Given the description of an element on the screen output the (x, y) to click on. 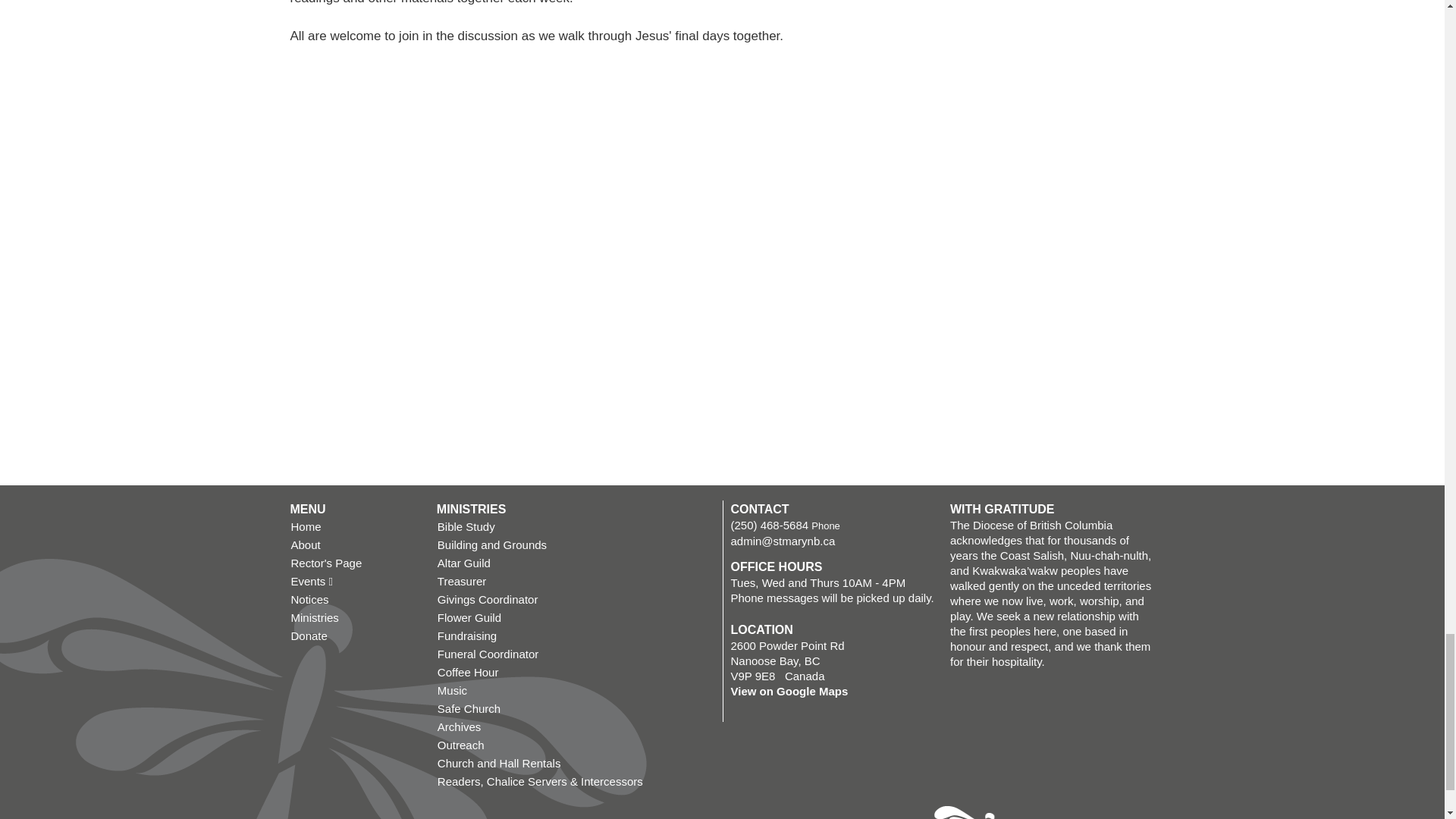
MINISTRIES (471, 508)
Home (354, 526)
Events (354, 581)
Donate (354, 636)
Ministries (354, 618)
Bible Study (575, 526)
About (354, 545)
Rector's Page (354, 563)
Notices (354, 599)
